Given the description of an element on the screen output the (x, y) to click on. 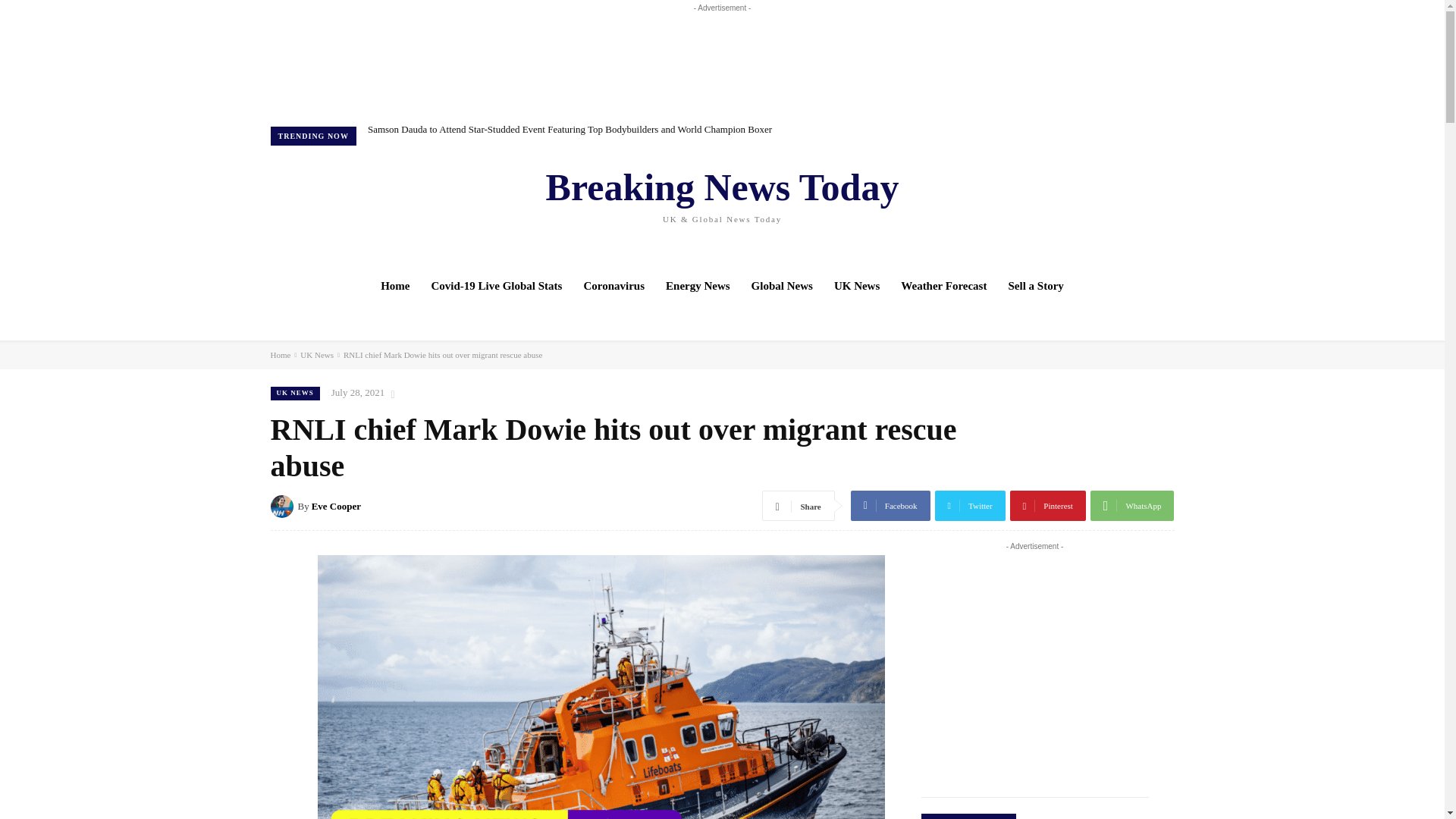
Instagram (1076, 209)
Energy News (698, 285)
Weather Forecast (943, 285)
Twitter (1097, 209)
UK News (856, 285)
Covid-19 Live Global Stats (496, 285)
Protesters Against ULEZ Regulations Damage Enforcement Vans (481, 129)
Coronavirus (613, 285)
Youtube (1118, 209)
Global News (782, 285)
Sell a Story (1035, 285)
Facebook (1055, 209)
Home (394, 285)
